Given the description of an element on the screen output the (x, y) to click on. 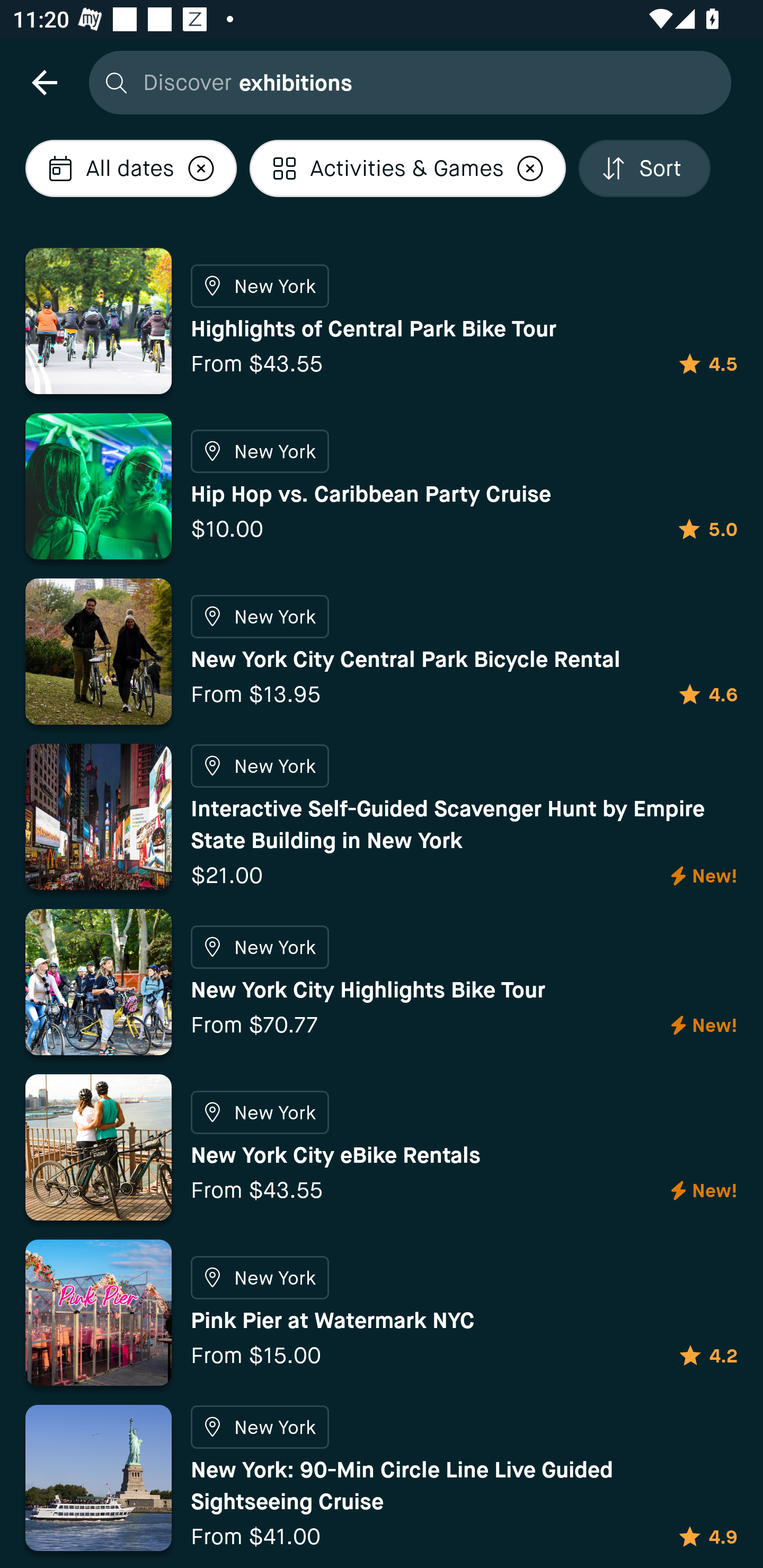
navigation icon (44, 81)
Discover exhibitions (405, 81)
Localized description (201, 168)
Localized description (530, 168)
Localized description Sort (644, 168)
